Given the description of an element on the screen output the (x, y) to click on. 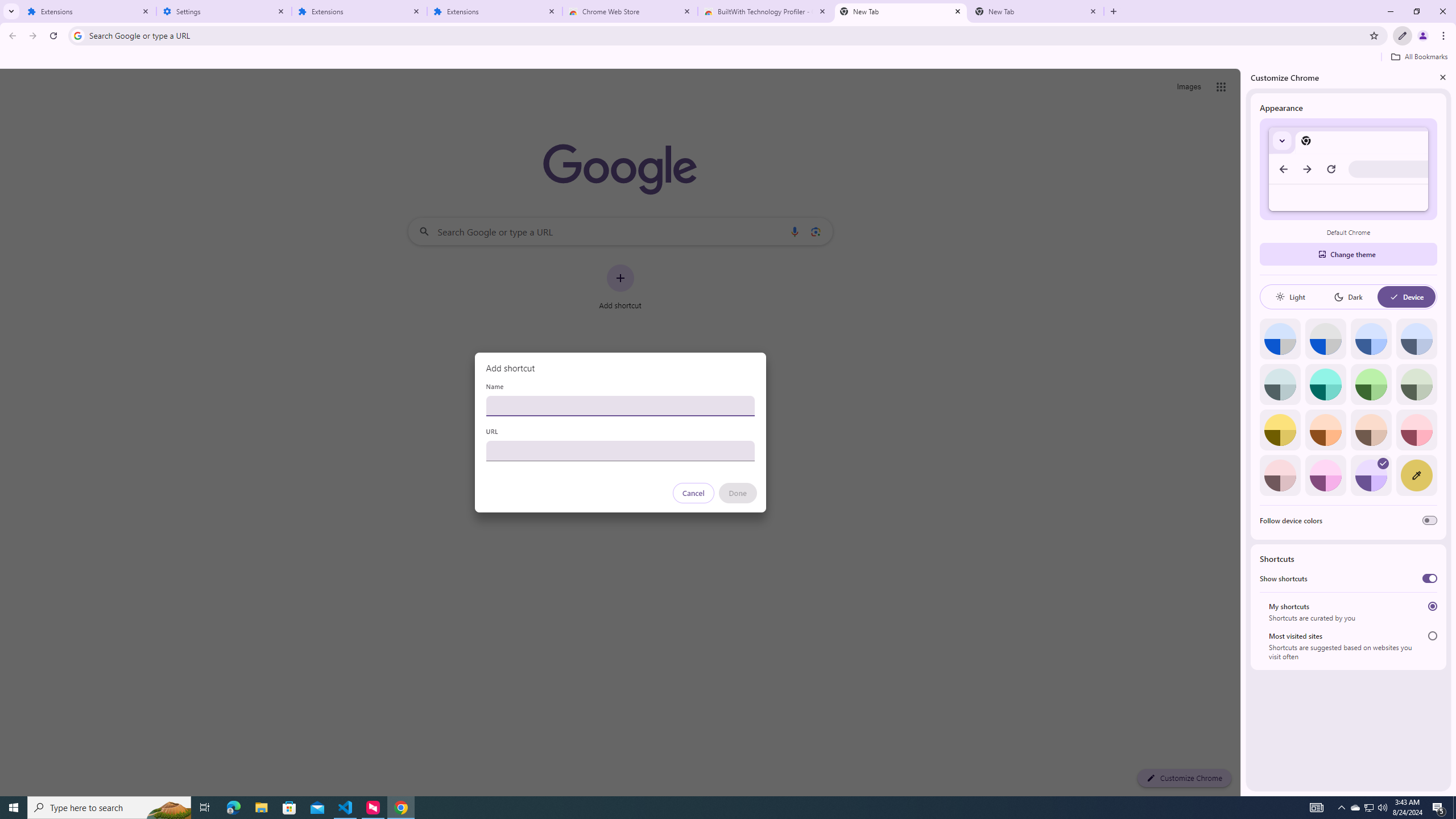
Orange (1325, 429)
Aqua (1325, 383)
Violet (1371, 475)
Default Chrome (1348, 169)
BuiltWith Technology Profiler - Chrome Web Store (765, 11)
Apricot (1371, 429)
My shortcuts (1432, 605)
Custom color (1416, 475)
Follow device colors (1429, 519)
Most visited sites (1432, 635)
